Given the description of an element on the screen output the (x, y) to click on. 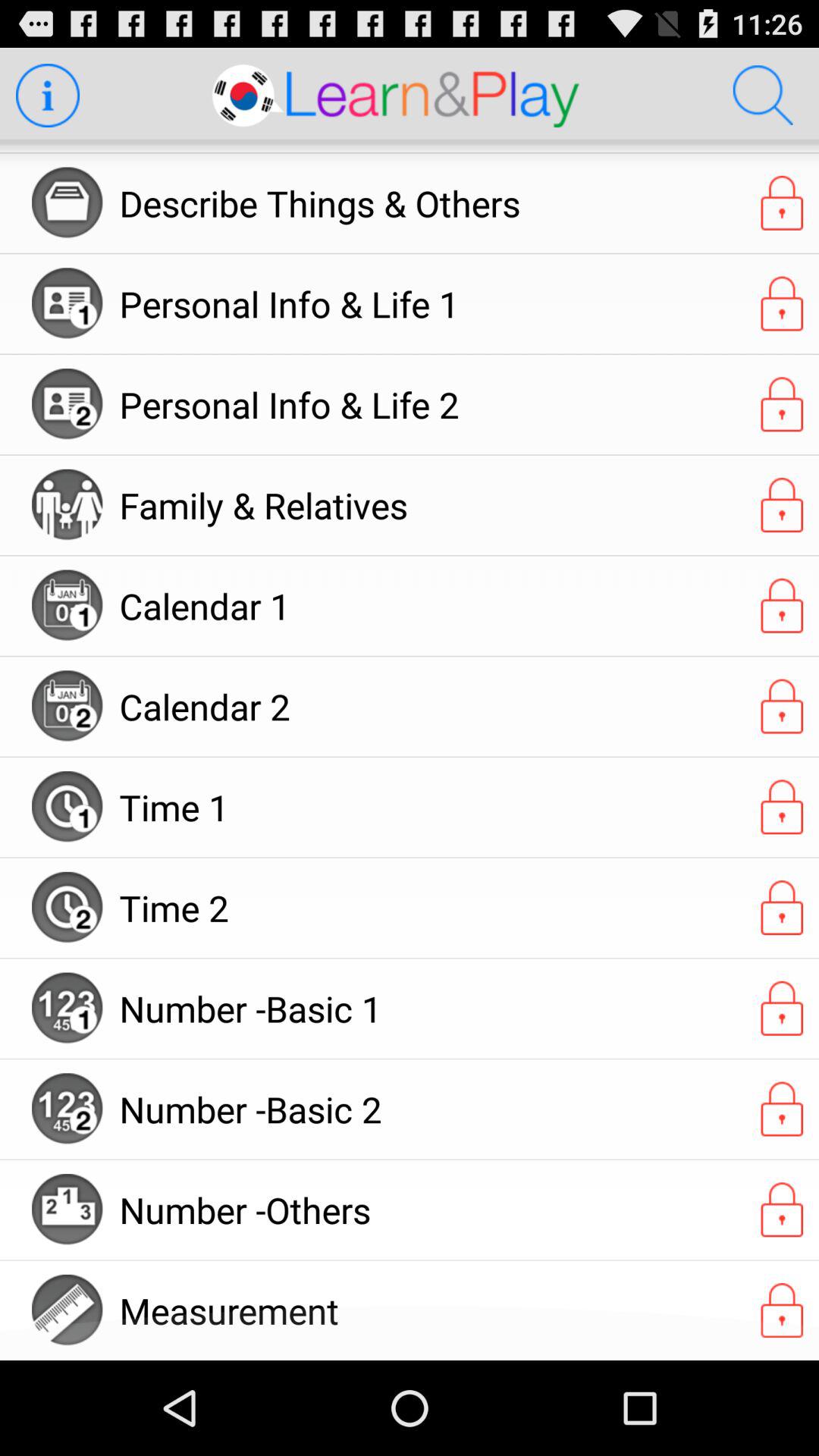
learn more (47, 95)
